Given the description of an element on the screen output the (x, y) to click on. 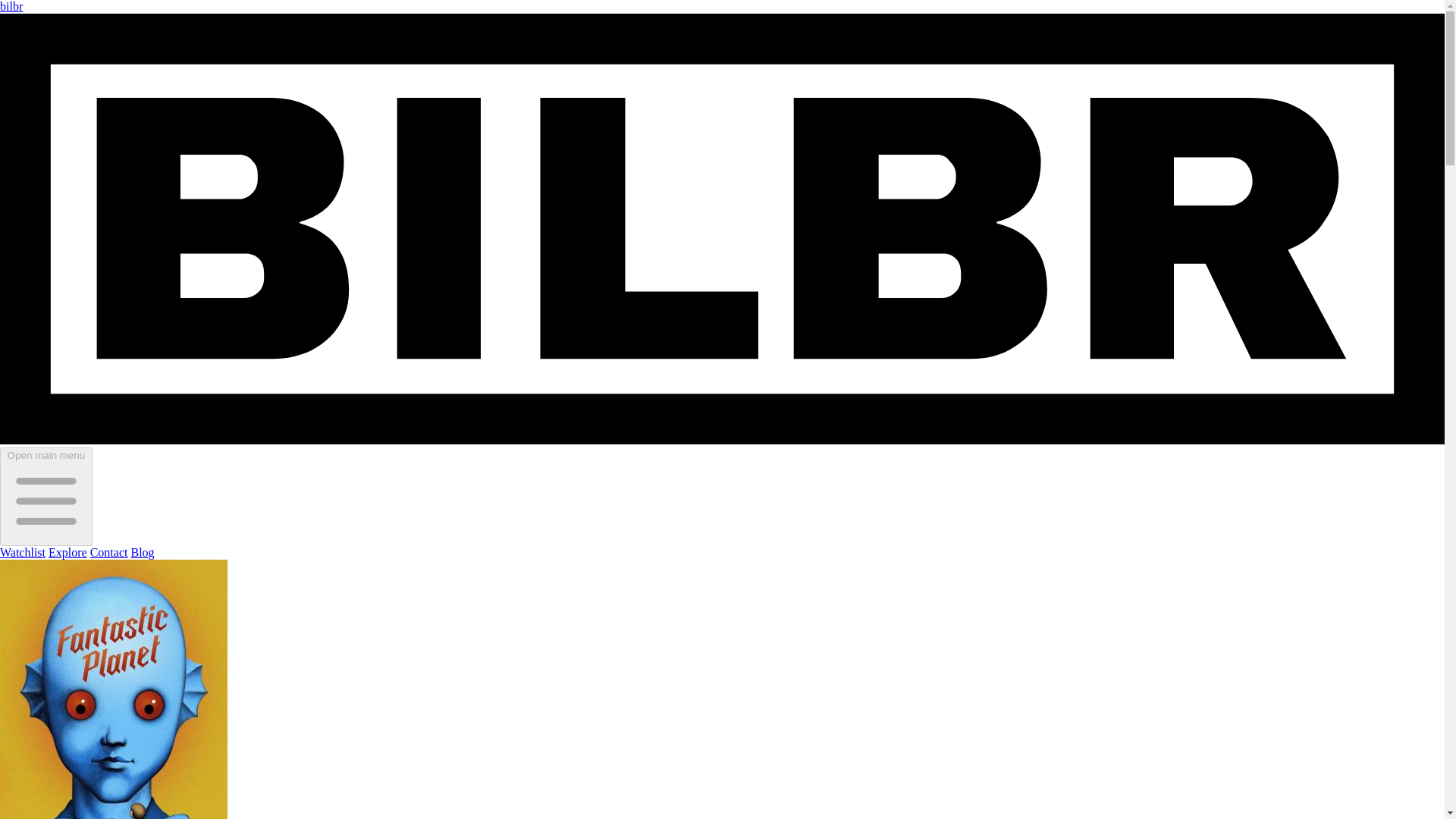
Watchlist (22, 552)
Blog (142, 552)
Open main menu (46, 496)
Contact (109, 552)
Explore (67, 552)
